Given the description of an element on the screen output the (x, y) to click on. 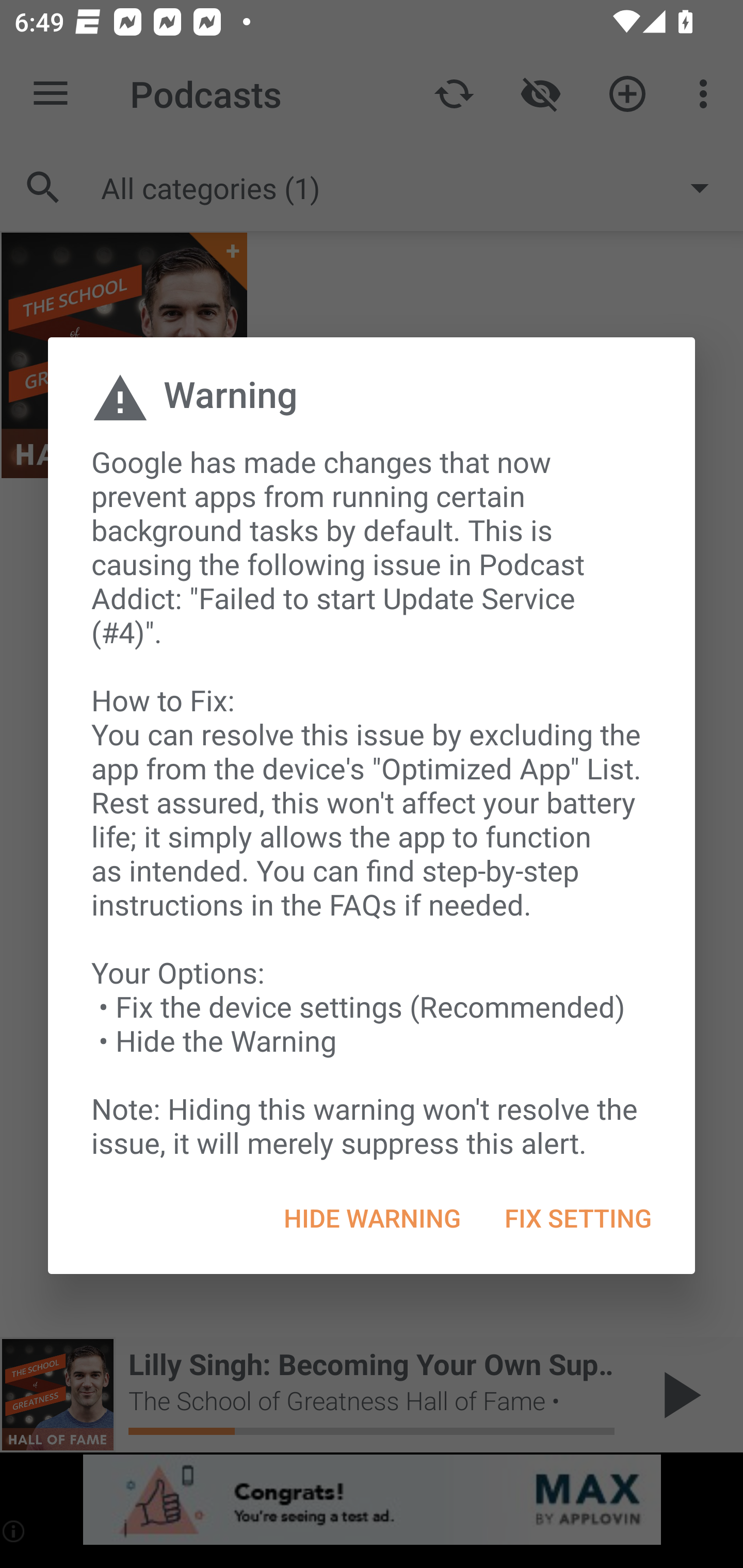
HIDE WARNING (372, 1217)
FIX SETTING (577, 1217)
